Given the description of an element on the screen output the (x, y) to click on. 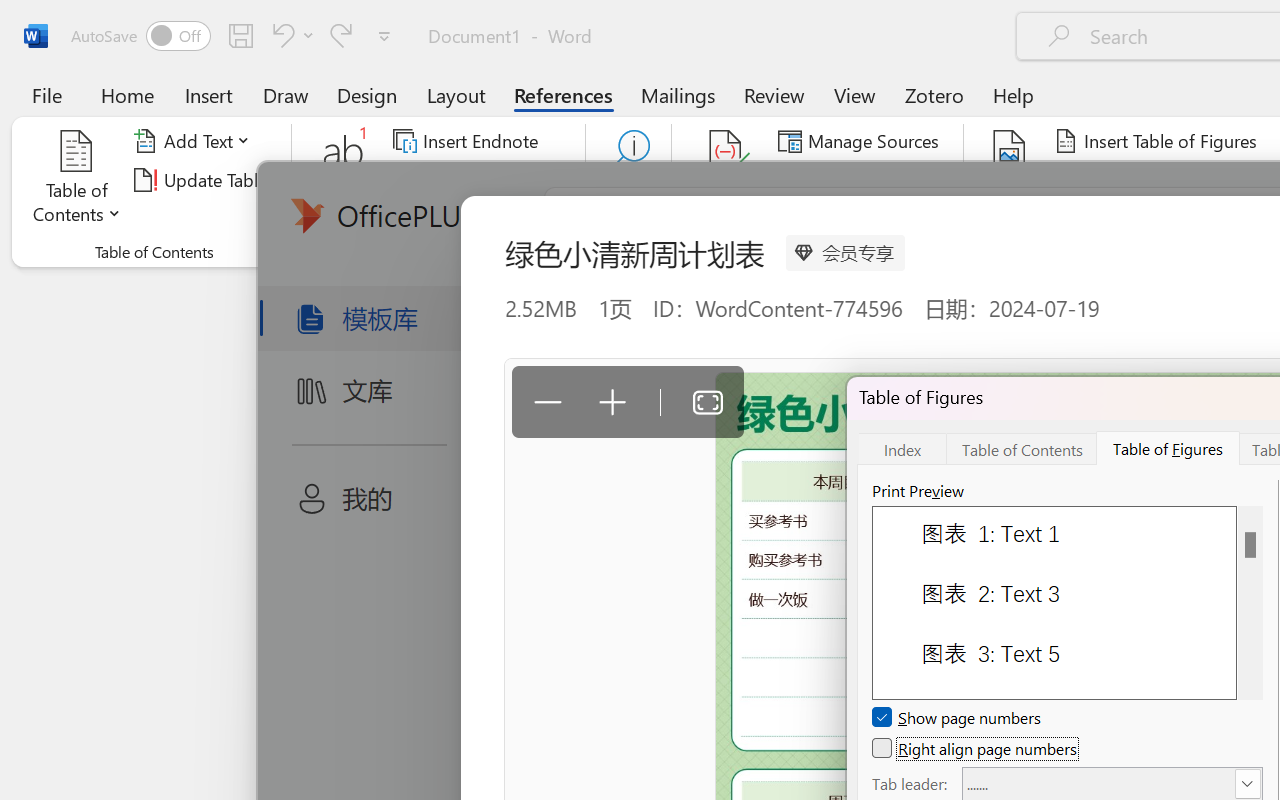
Undo Apply Quick Style Set (290, 35)
AutomationID: 44 (1249, 602)
Next Footnote (468, 179)
